Given the description of an element on the screen output the (x, y) to click on. 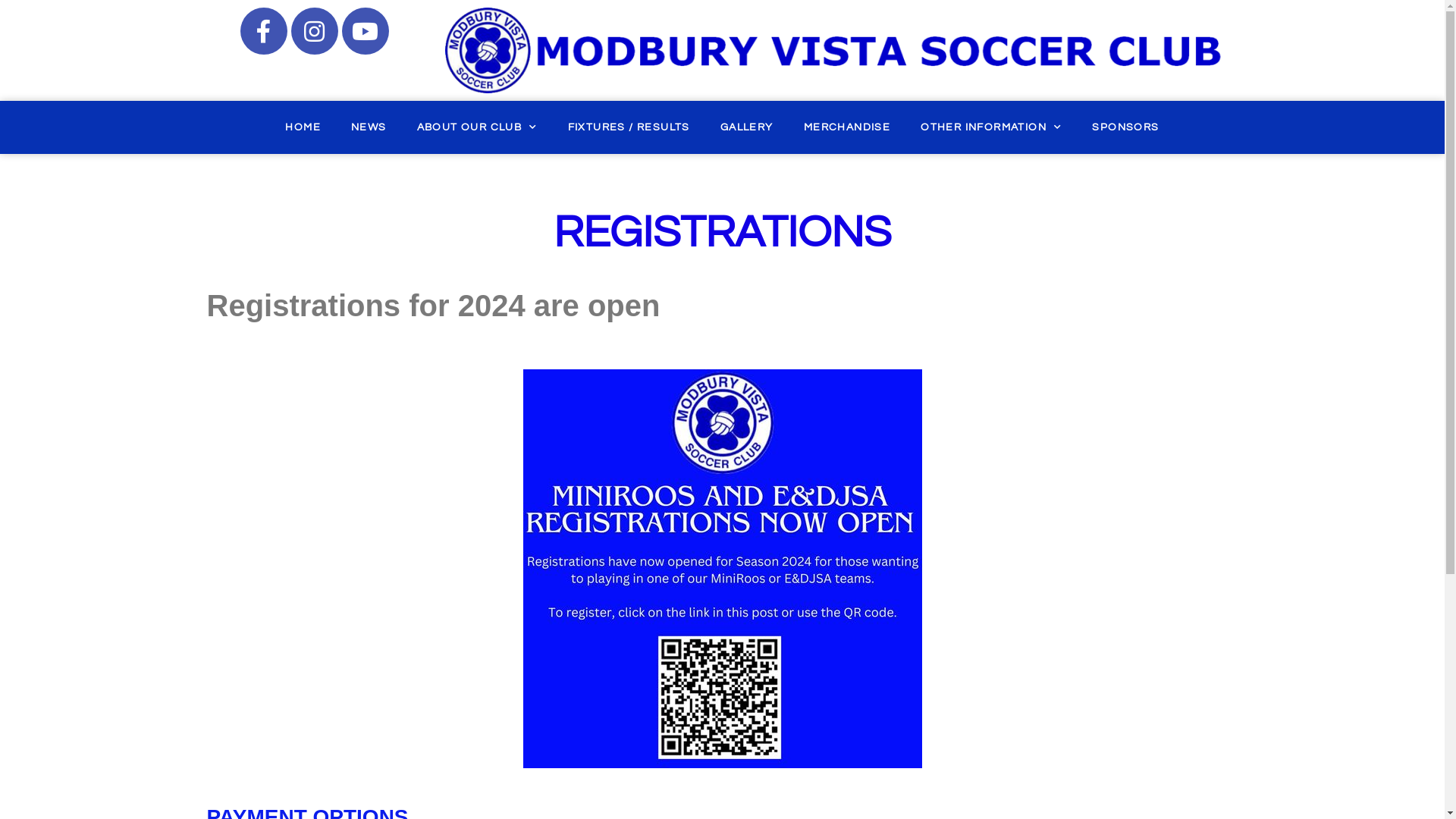
SPONSORS Element type: text (1124, 127)
FIXTURES / RESULTS Element type: text (628, 127)
OTHER INFORMATION Element type: text (990, 127)
HOME Element type: text (302, 127)
MERCHANDISE Element type: text (846, 127)
GALLERY Element type: text (746, 127)
NEWS Element type: text (368, 127)
ABOUT OUR CLUB Element type: text (476, 127)
